Given the description of an element on the screen output the (x, y) to click on. 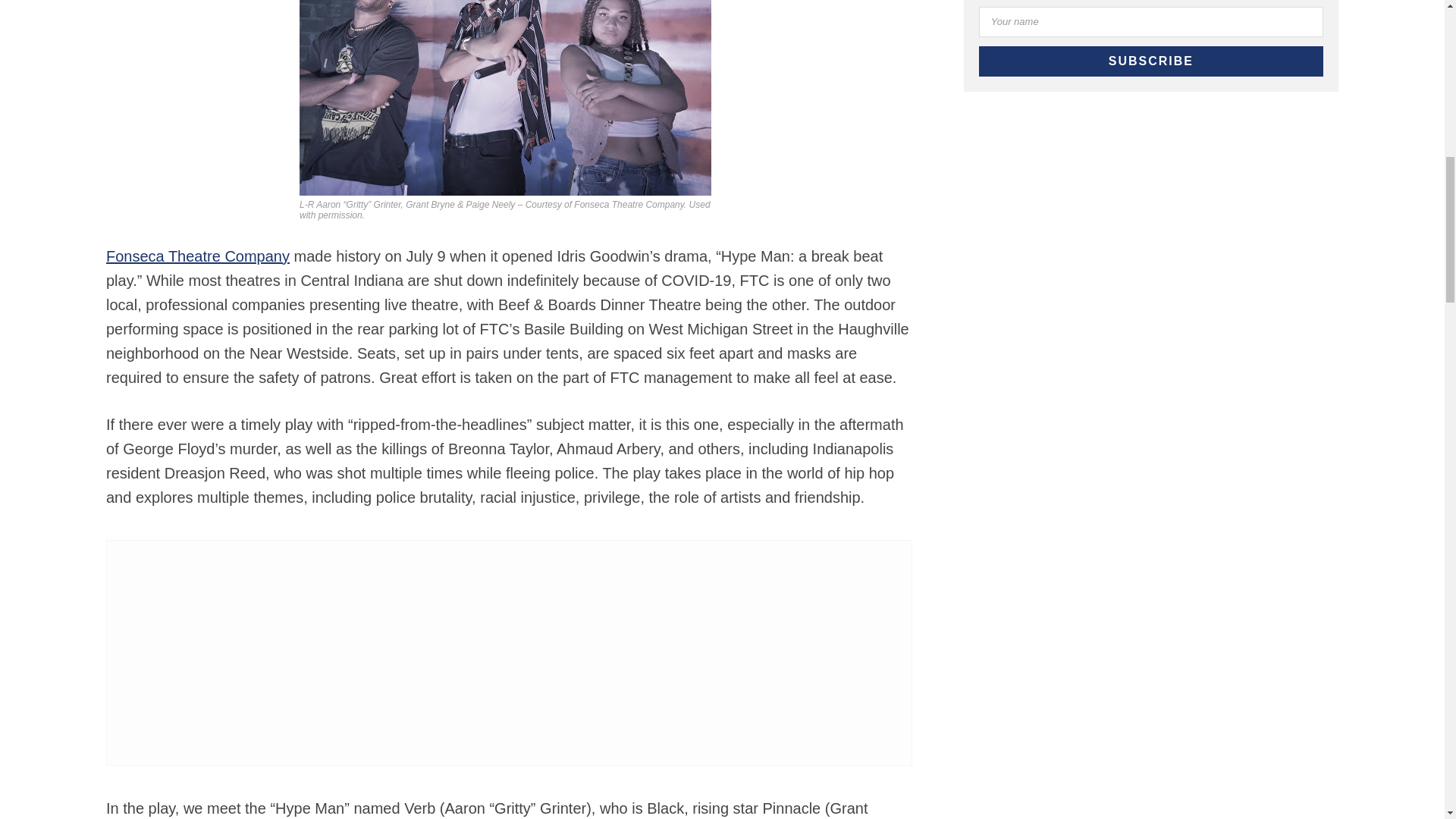
Subscribe (1150, 60)
Fonseca Theatre Company (197, 255)
Subscribe (1150, 60)
